Given the description of an element on the screen output the (x, y) to click on. 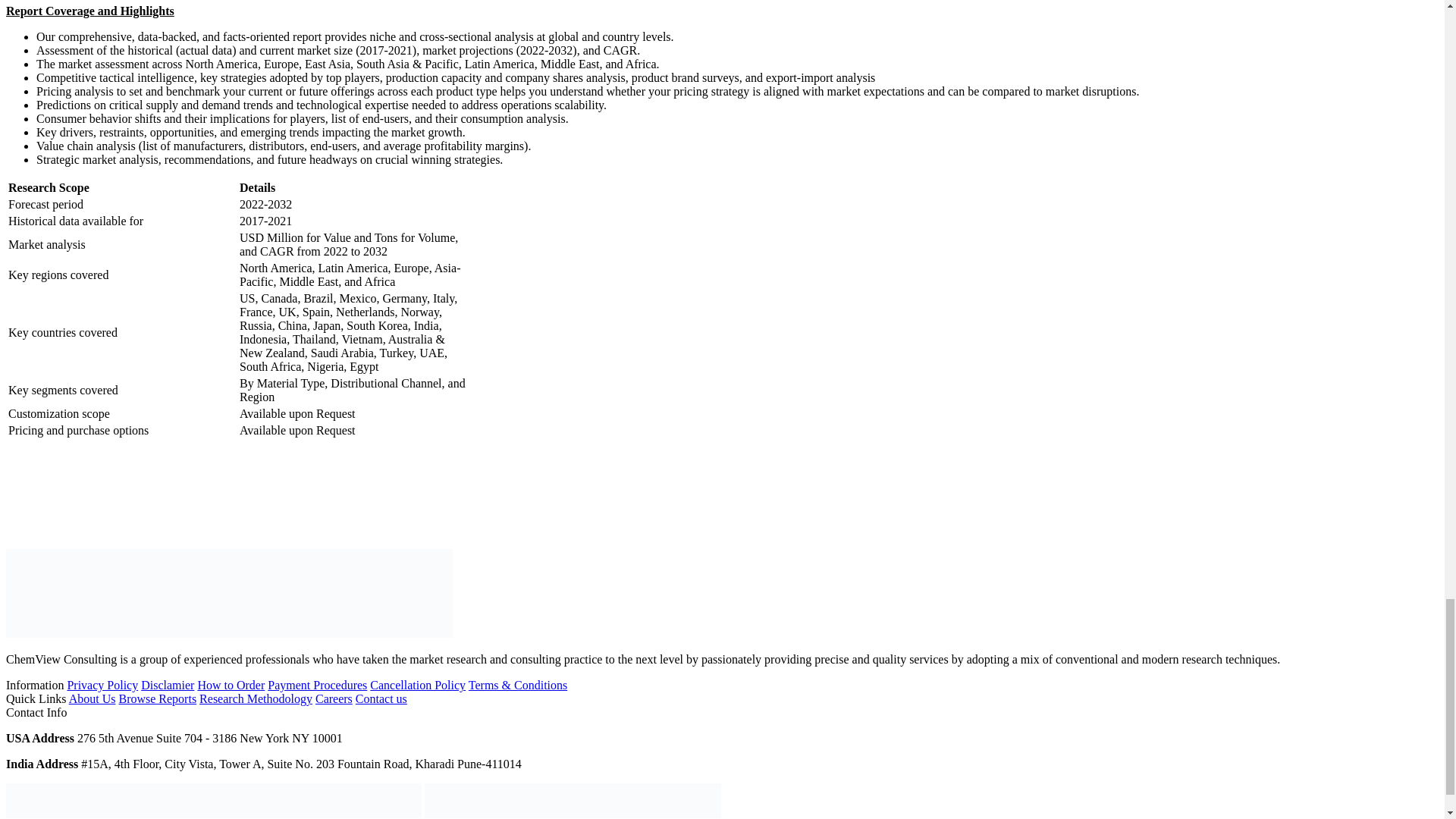
Cancellation Policy (417, 684)
How to Order (230, 684)
About Us (92, 698)
Privacy Policy (102, 684)
Disclamier (167, 684)
Payment Procedures (316, 684)
Contact us (381, 698)
Browse Reports (156, 698)
Careers (333, 698)
Research Methodology (256, 698)
